Given the description of an element on the screen output the (x, y) to click on. 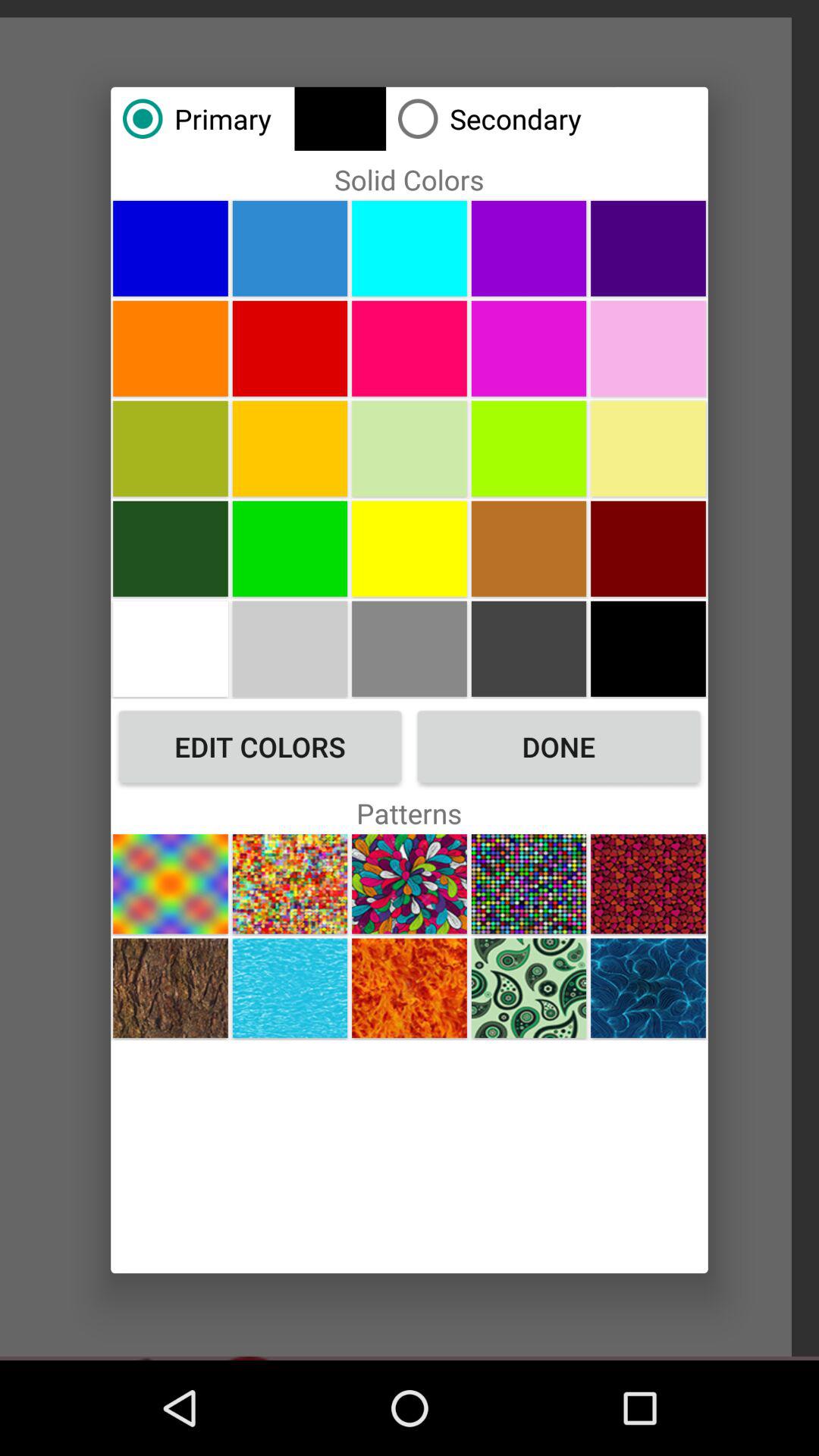
choose color (409, 348)
